Given the description of an element on the screen output the (x, y) to click on. 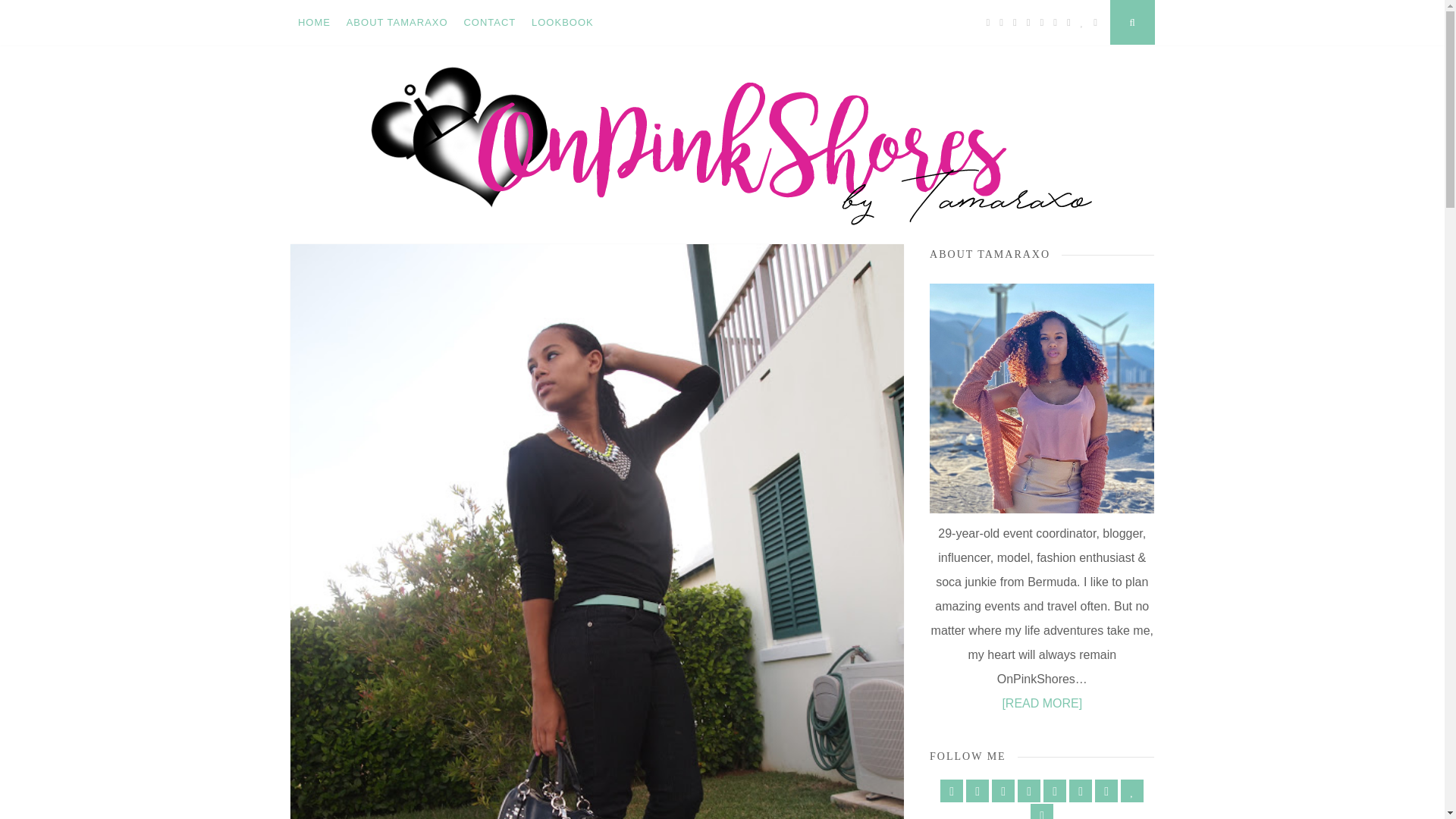
On Pink Shores (397, 271)
